Given the description of an element on the screen output the (x, y) to click on. 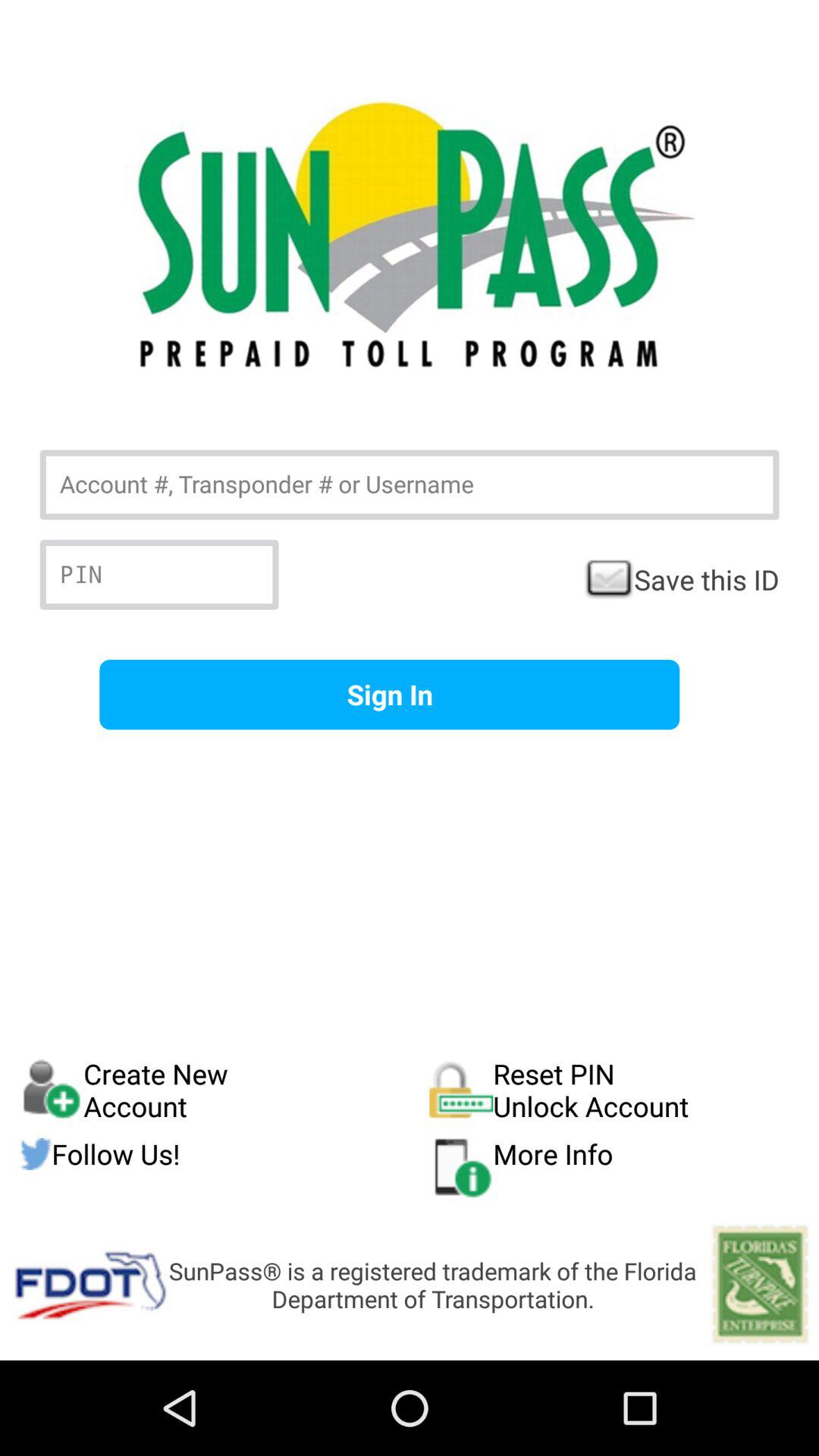
launch icon next to reset pin unlock item (224, 1153)
